Given the description of an element on the screen output the (x, y) to click on. 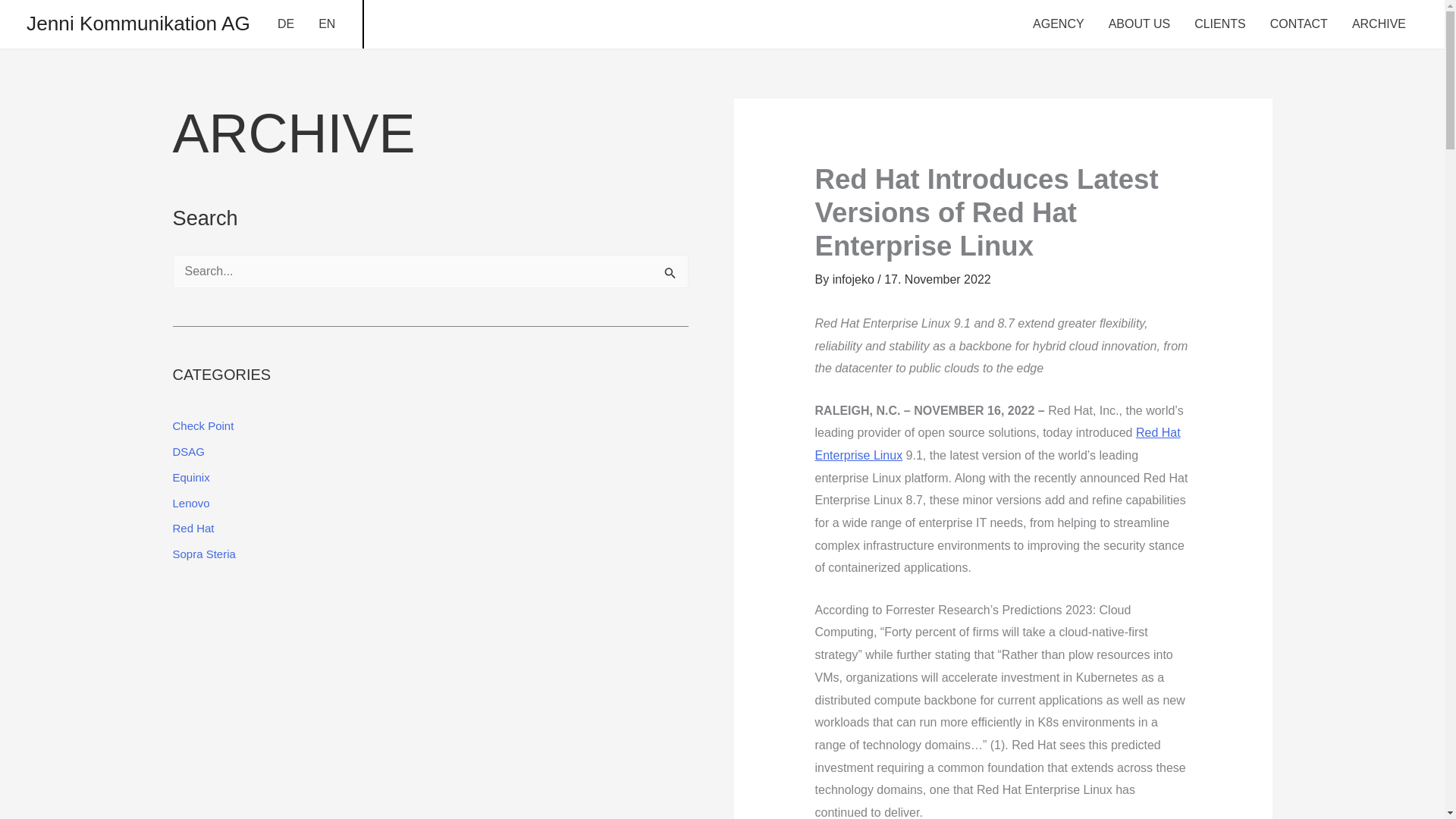
Red Hat (193, 527)
EN (326, 24)
EN (326, 24)
CLIENTS (1219, 24)
AGENCY (1058, 24)
DE (284, 24)
DE (284, 24)
Equinix (191, 477)
ABOUT US (1139, 24)
CONTACT (1298, 24)
